Given the description of an element on the screen output the (x, y) to click on. 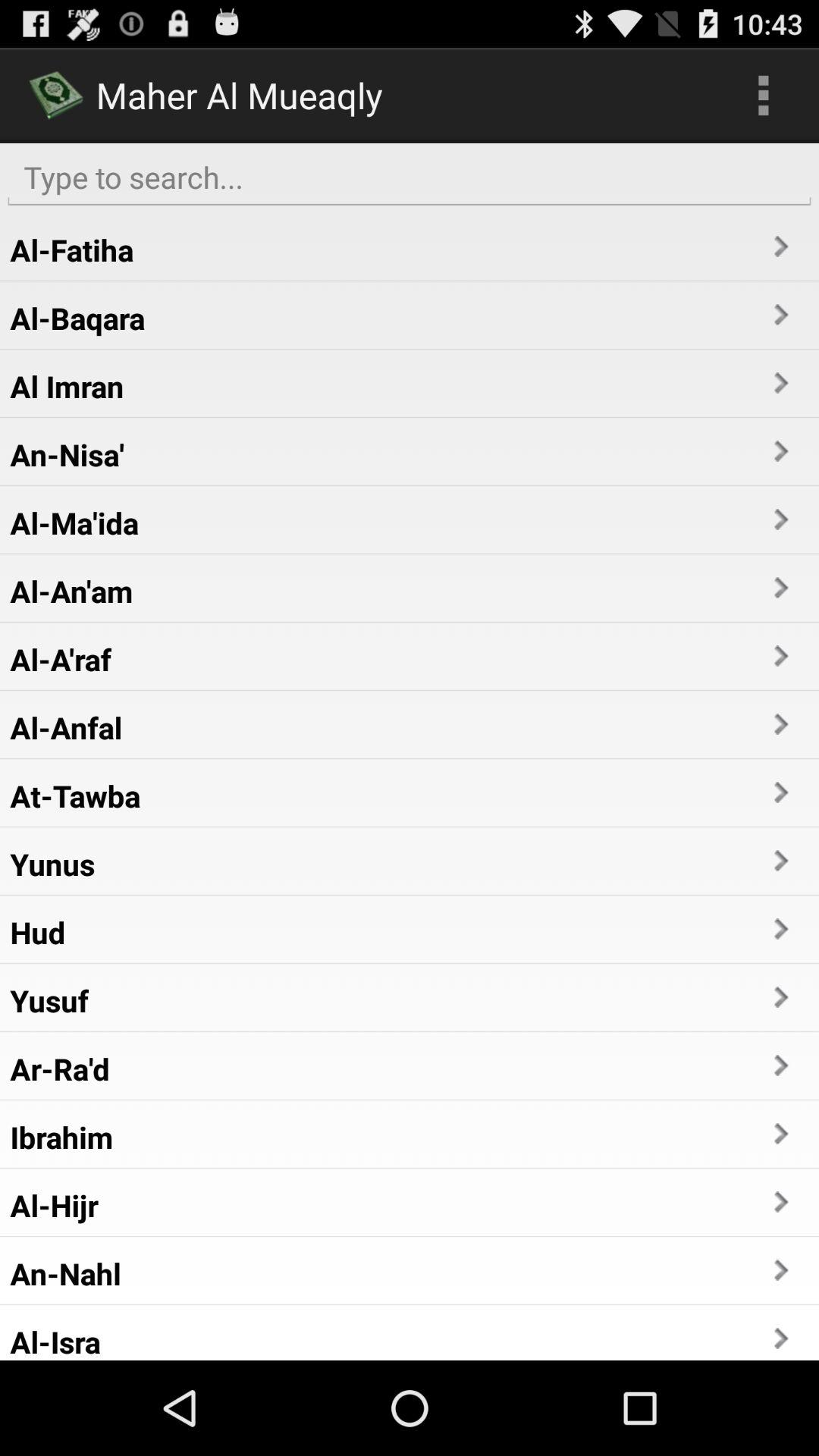
open the item above the hud (52, 864)
